Given the description of an element on the screen output the (x, y) to click on. 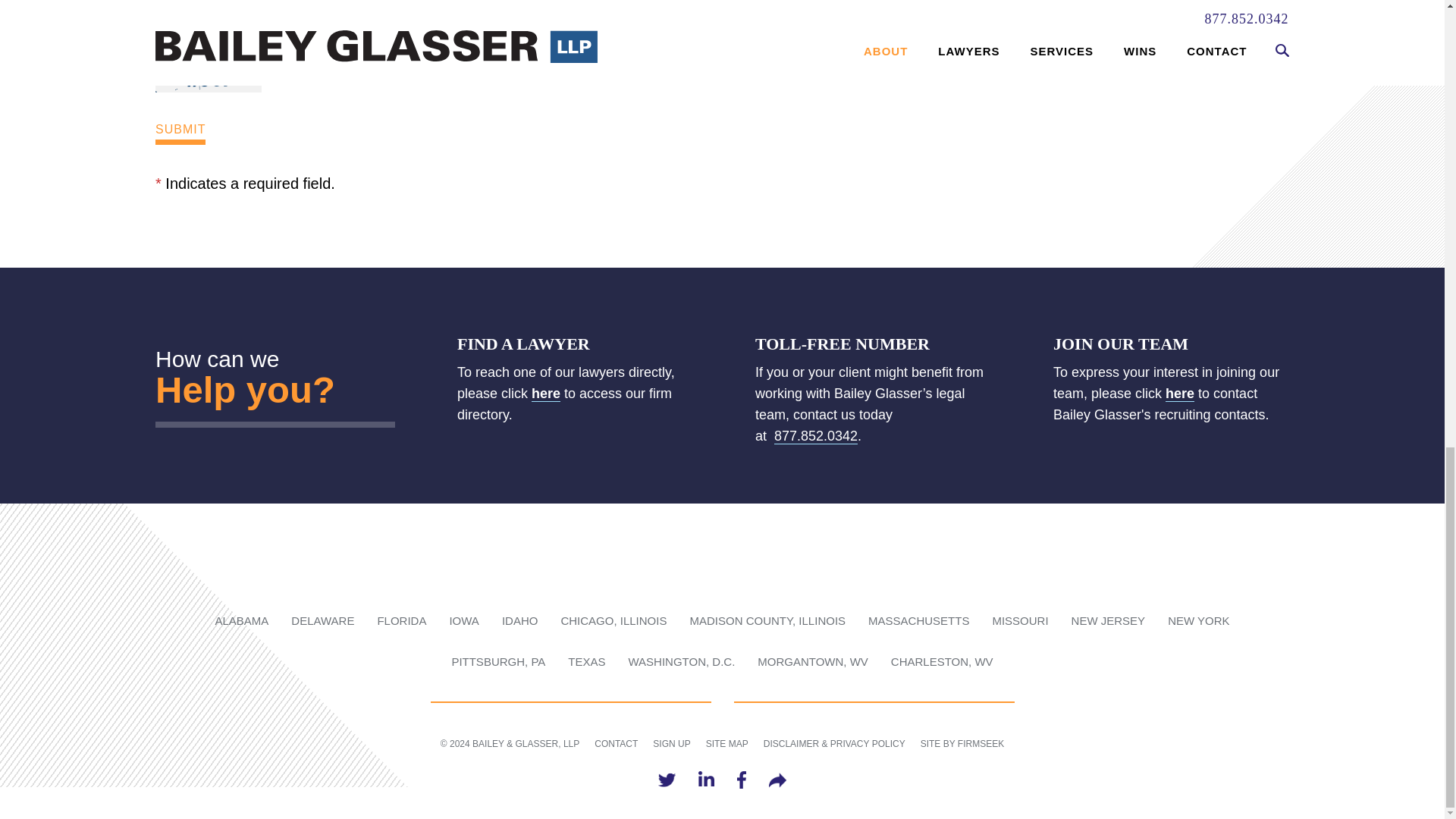
Recruiting Contact (1179, 393)
Share (777, 779)
Contact Us (234, 388)
Lawyer Directory (545, 393)
Submit (180, 131)
Twitter (666, 779)
LinkedIn (706, 779)
